Given the description of an element on the screen output the (x, y) to click on. 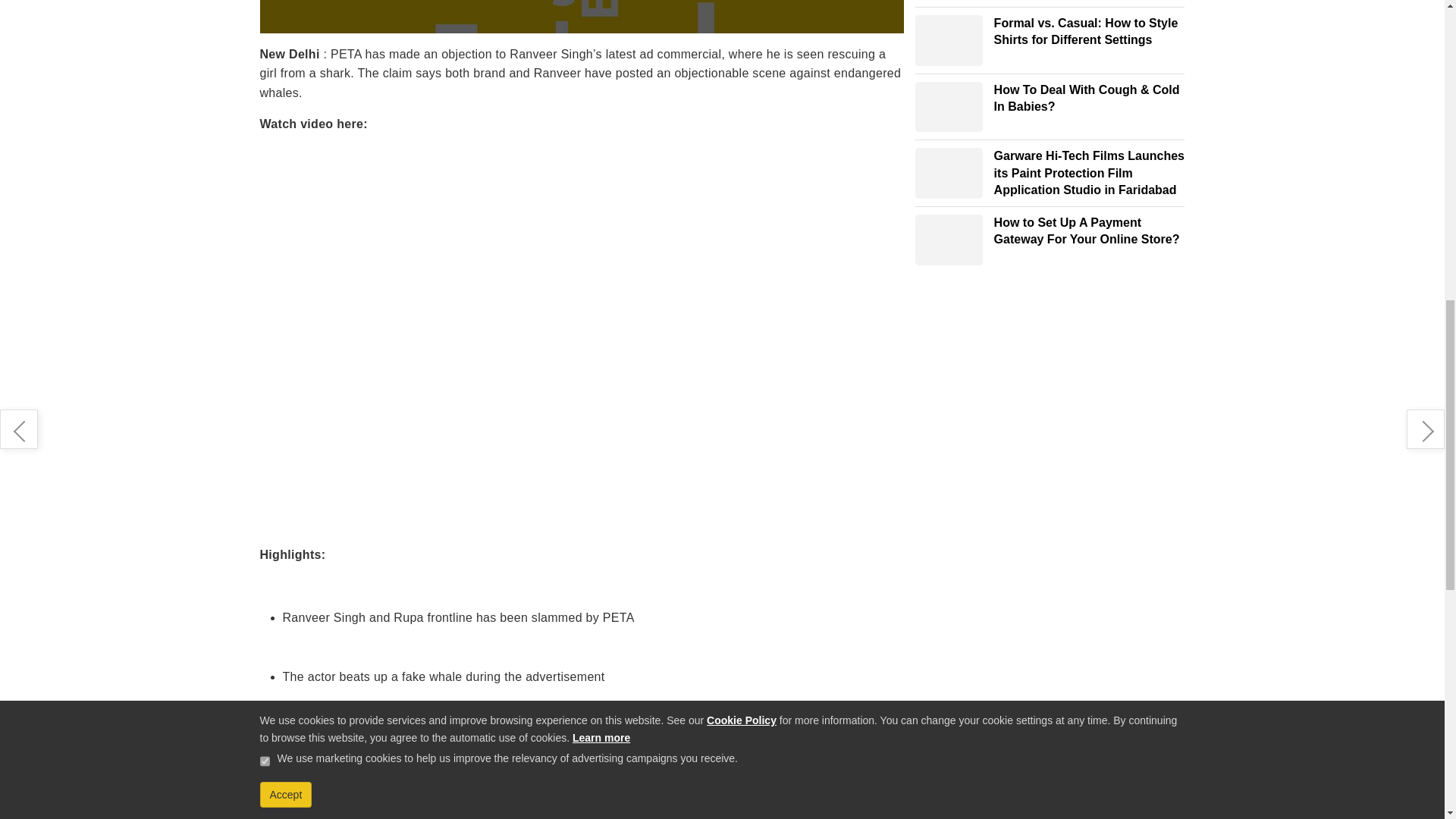
How to Set Up A Payment Gateway For Your Online Store? (948, 239)
